Given the description of an element on the screen output the (x, y) to click on. 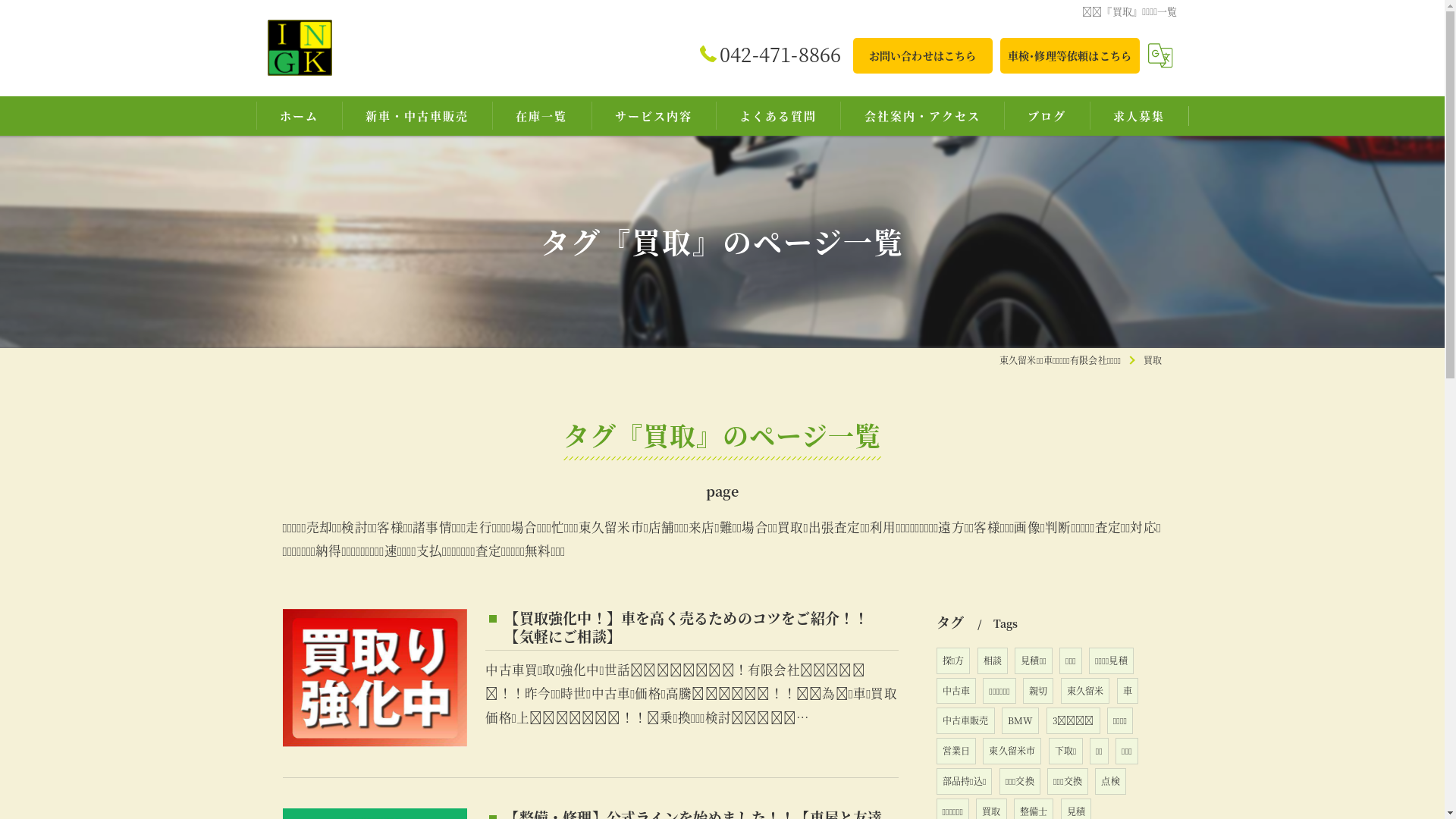
BMW Element type: text (1020, 720)
